Given the description of an element on the screen output the (x, y) to click on. 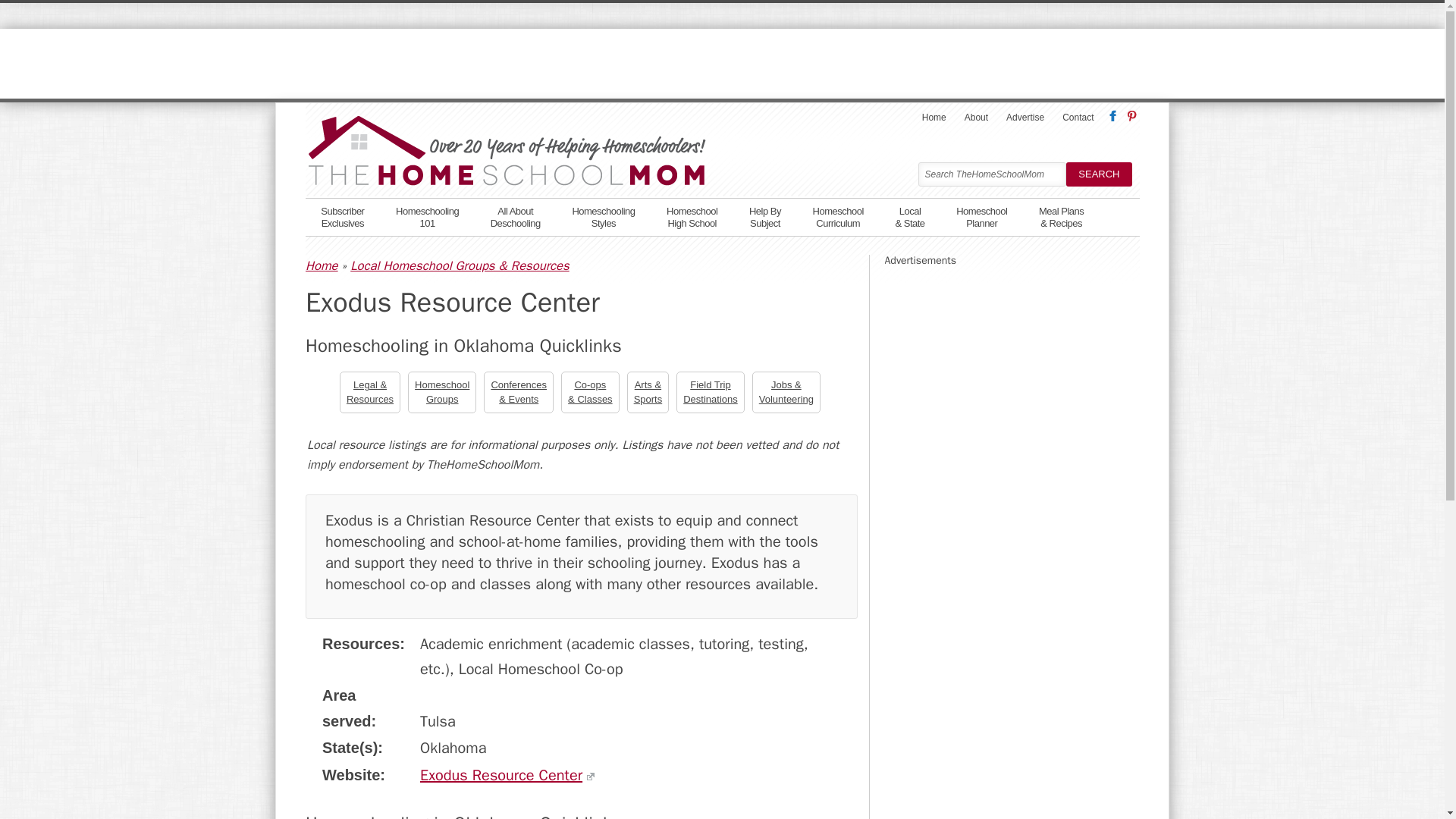
Advertise (1024, 117)
Contact (342, 214)
Homeschool Newsletter Subscriber Exclusives (1077, 117)
Site Search (342, 214)
Search TheHomeSchoolMom (991, 174)
Pinterest (991, 174)
Homeschooling High School (691, 214)
Home (1129, 112)
